Given the description of an element on the screen output the (x, y) to click on. 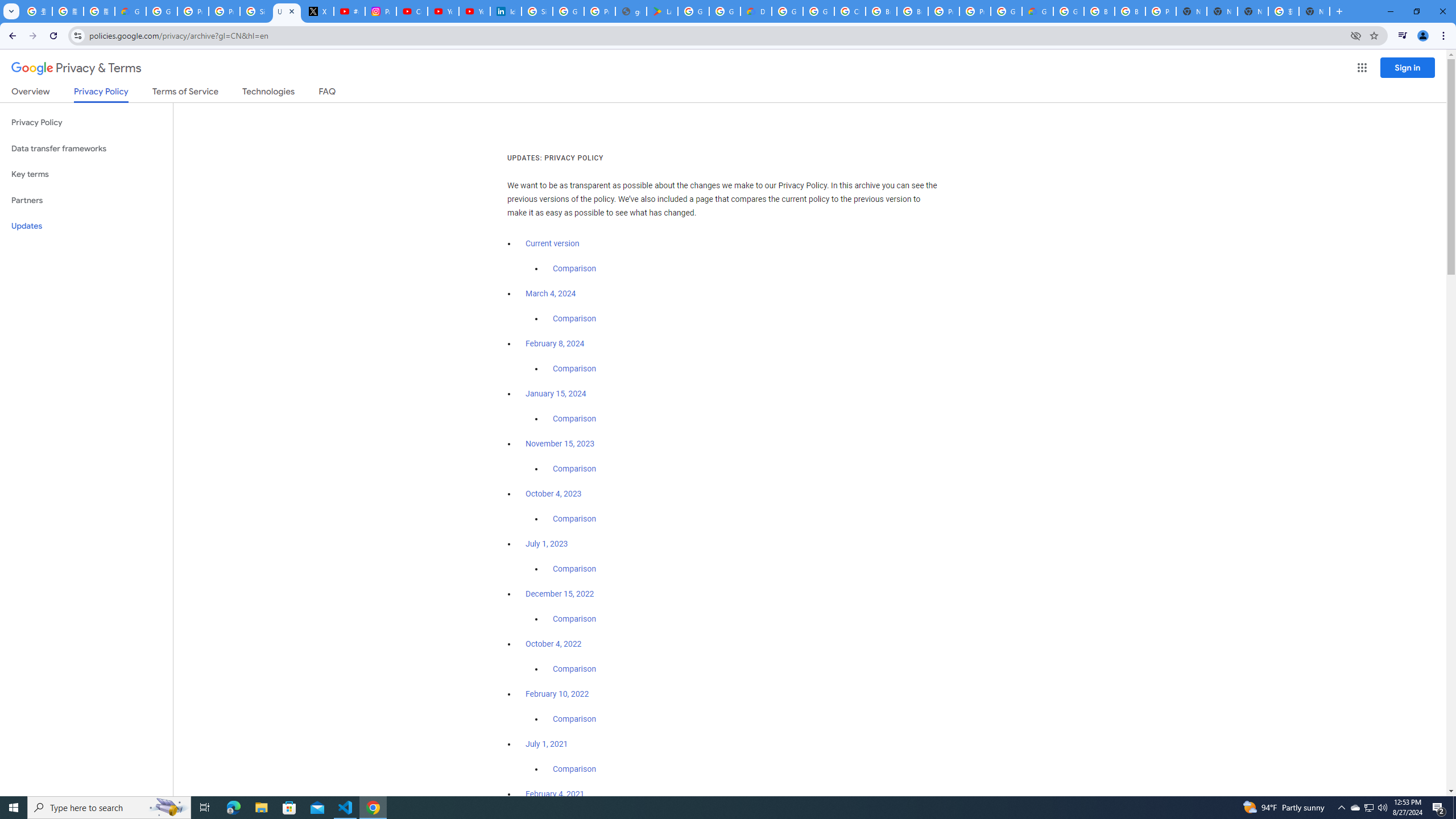
New Tab (1314, 11)
Google Cloud Estimate Summary (1037, 11)
Privacy Help Center - Policies Help (223, 11)
Comparison (574, 768)
